Given the description of an element on the screen output the (x, y) to click on. 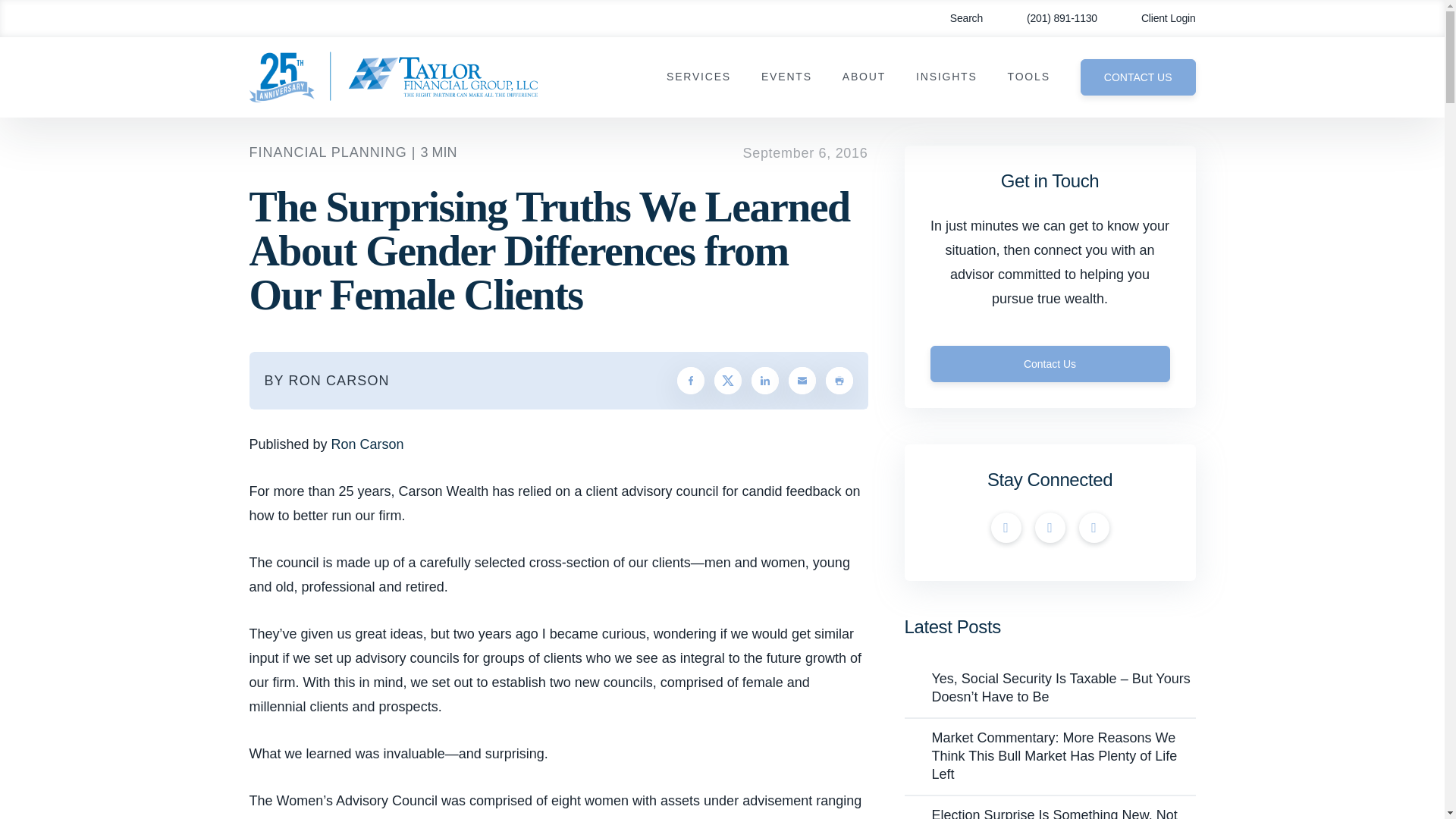
SERVICES (698, 77)
INSIGHTS (945, 77)
EVENTS (786, 77)
ABOUT (864, 77)
Client Login (1157, 18)
Search (955, 18)
TOOLS (1028, 77)
